Given the description of an element on the screen output the (x, y) to click on. 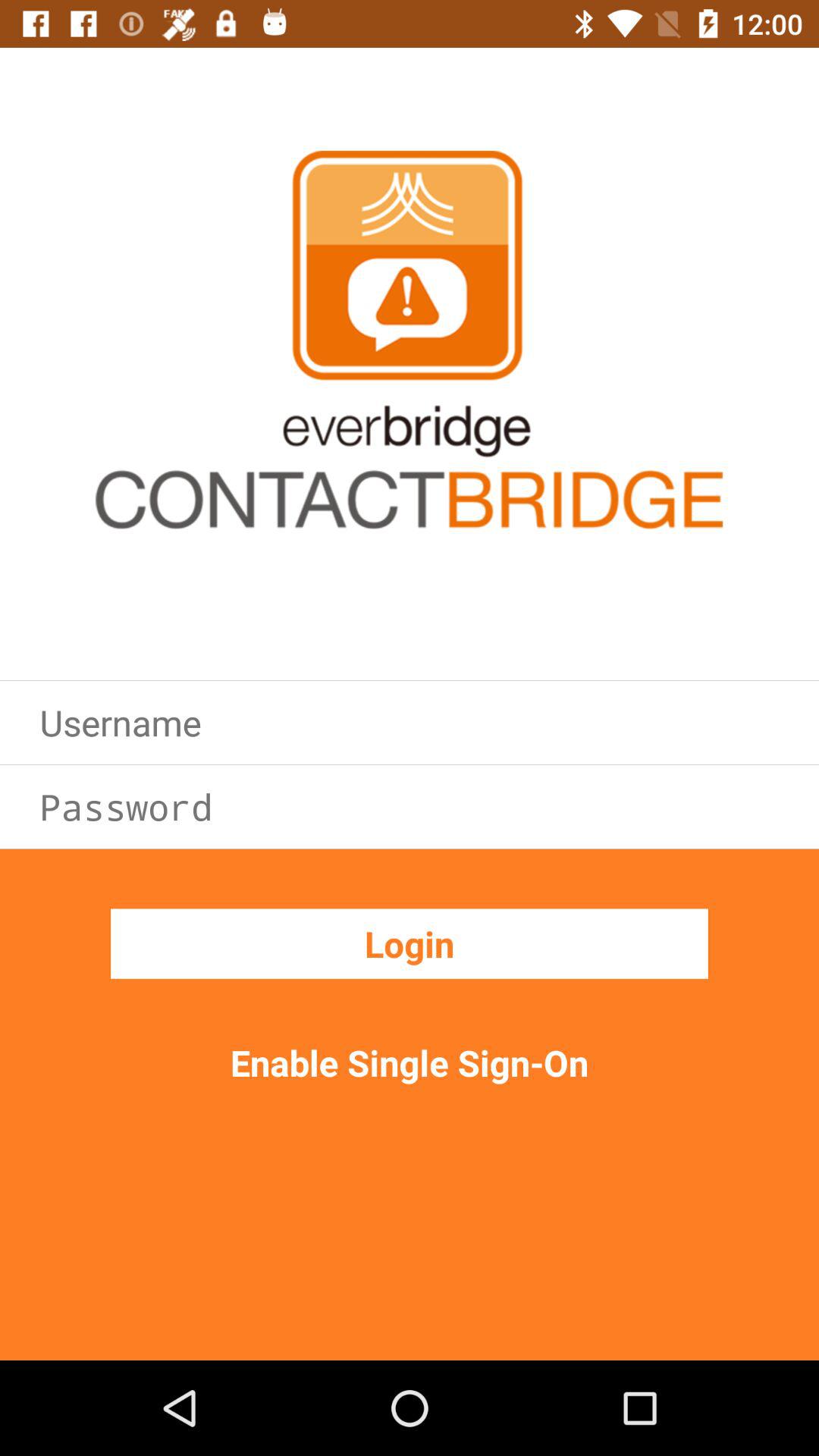
jump to the enable single sign icon (409, 1062)
